Given the description of an element on the screen output the (x, y) to click on. 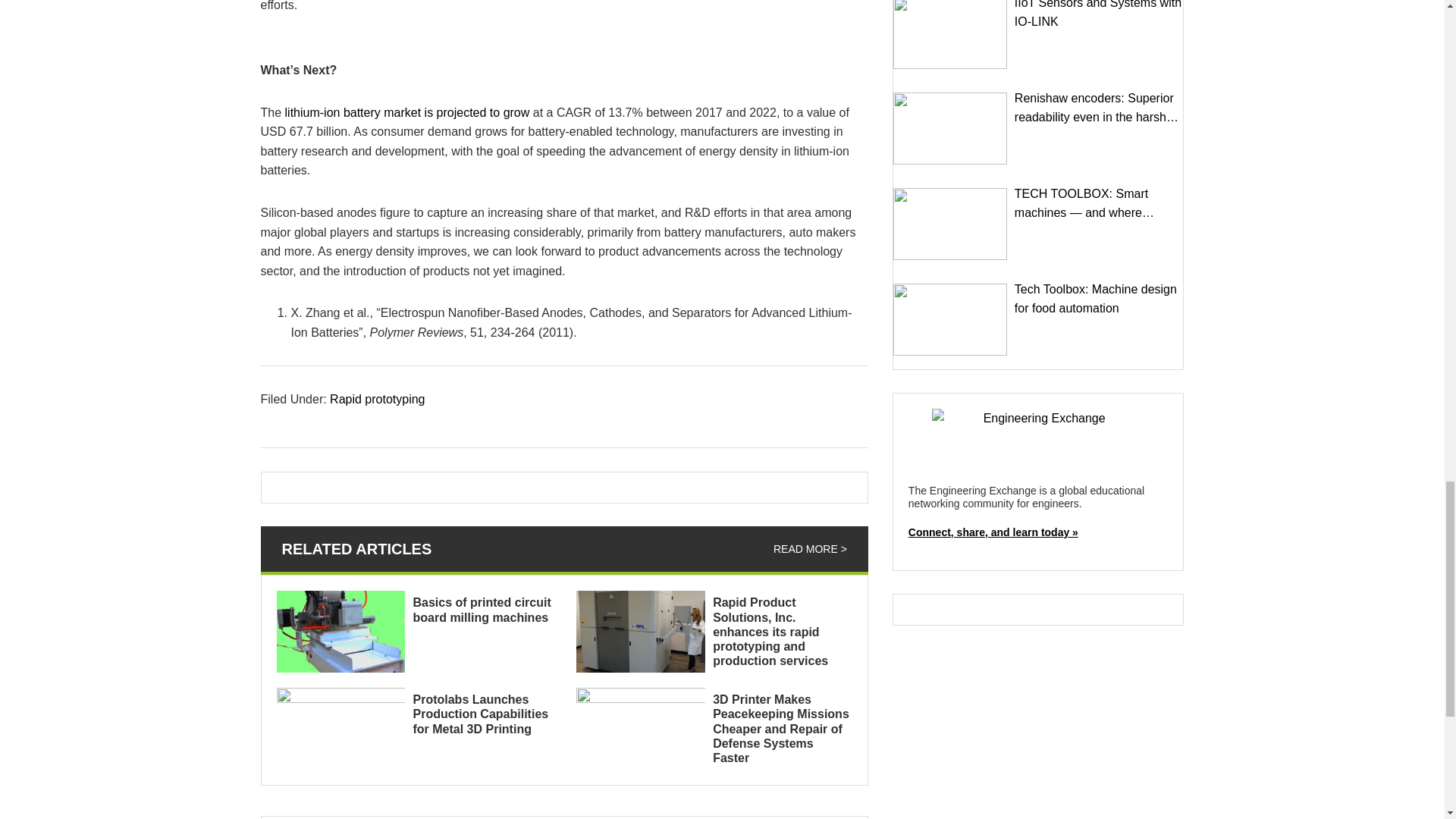
IIoT Sensors and Systems with IO-LINK (950, 34)
Tech Toolbox: Machine design for food automation (950, 319)
